Given the description of an element on the screen output the (x, y) to click on. 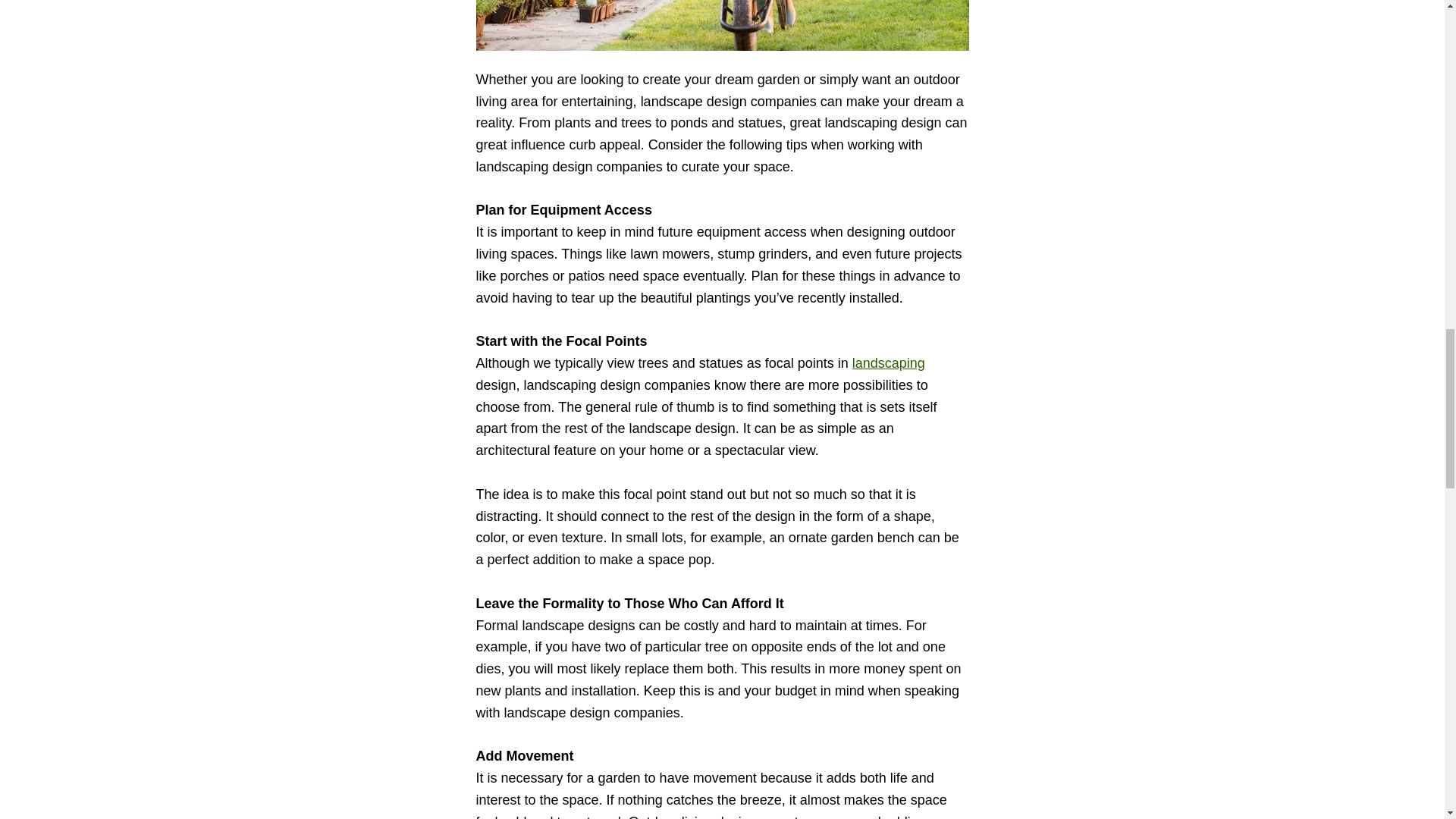
landscaping (887, 363)
See here (887, 363)
